Given the description of an element on the screen output the (x, y) to click on. 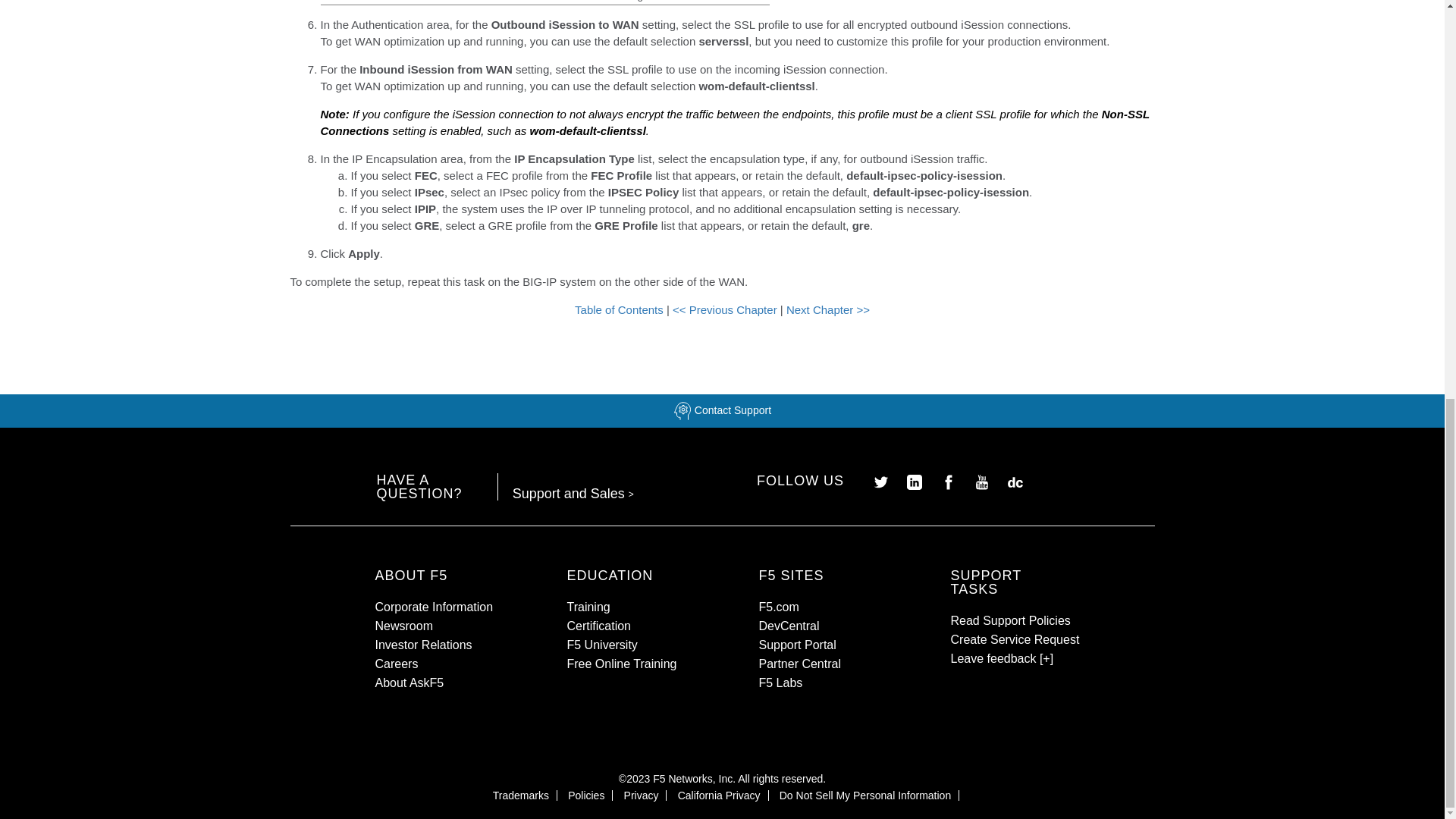
Table of Contents (620, 309)
twitter (875, 481)
Contact Support (721, 410)
linkedin (907, 481)
facebook (942, 481)
youtube (975, 481)
dc-icon (1007, 481)
